Given the description of an element on the screen output the (x, y) to click on. 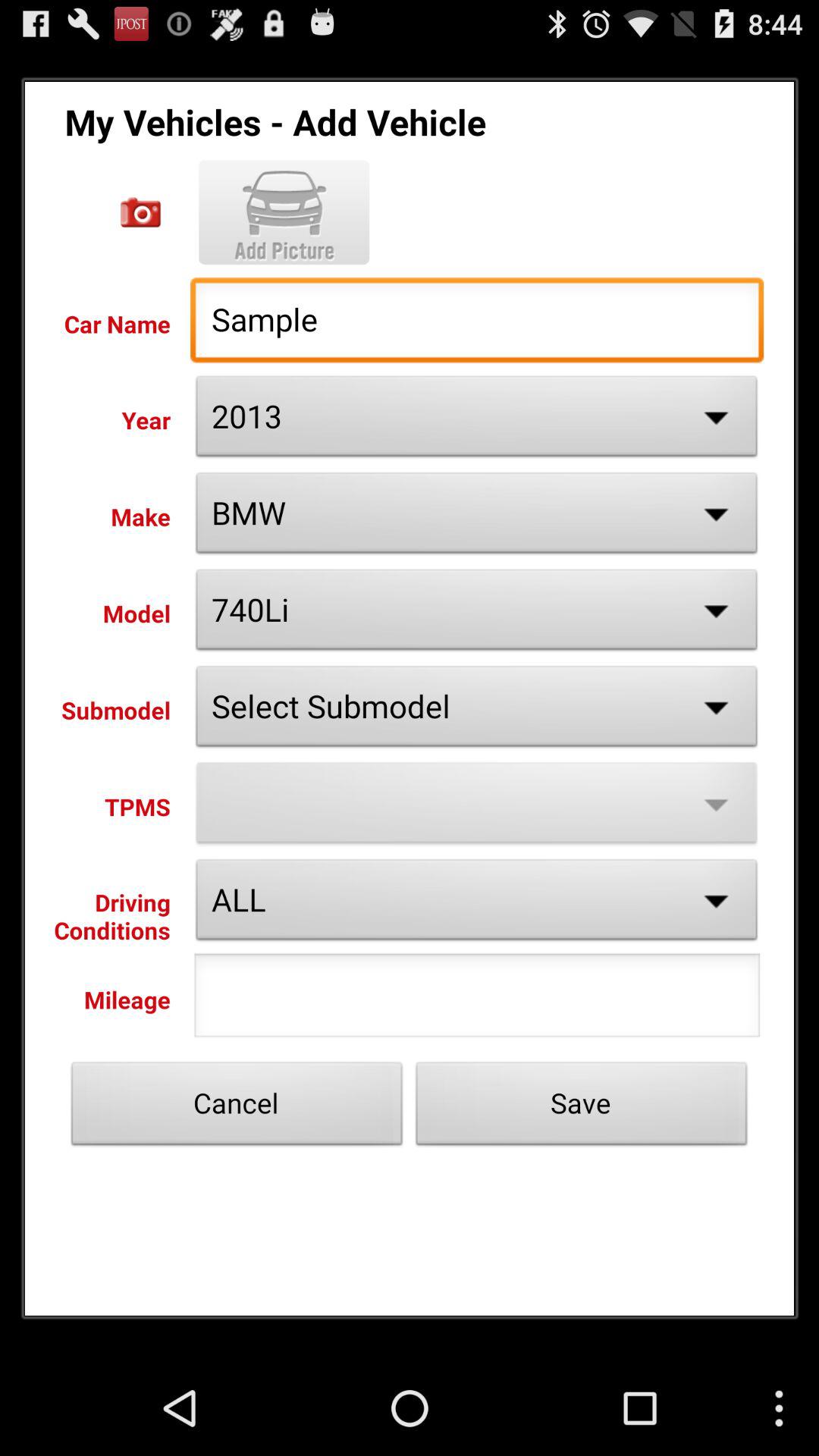
upload car image (283, 212)
